Given the description of an element on the screen output the (x, y) to click on. 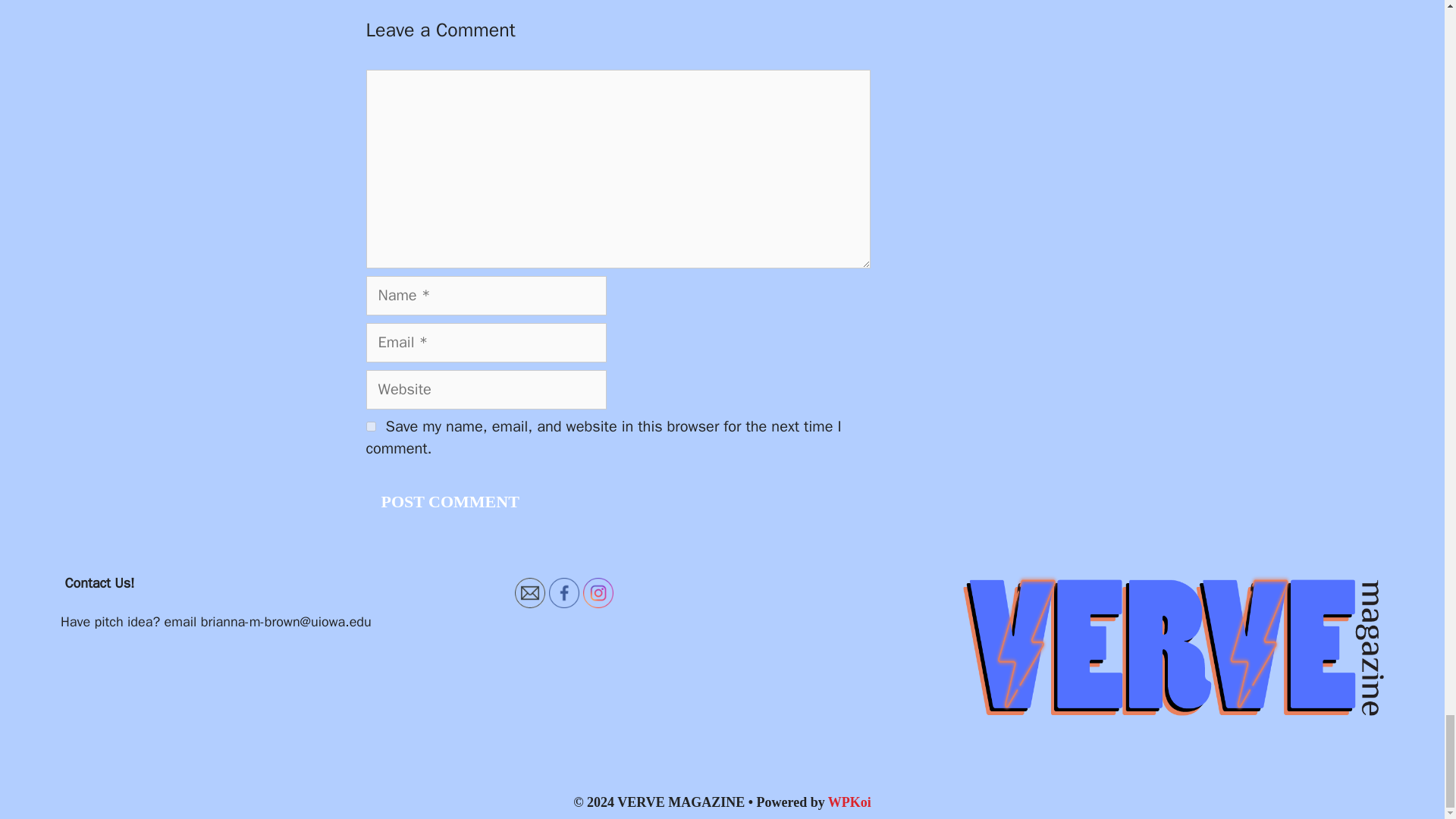
Facebook (563, 593)
Post Comment (449, 501)
Instagram (597, 593)
yes (370, 426)
Follow by Email (529, 593)
